Given the description of an element on the screen output the (x, y) to click on. 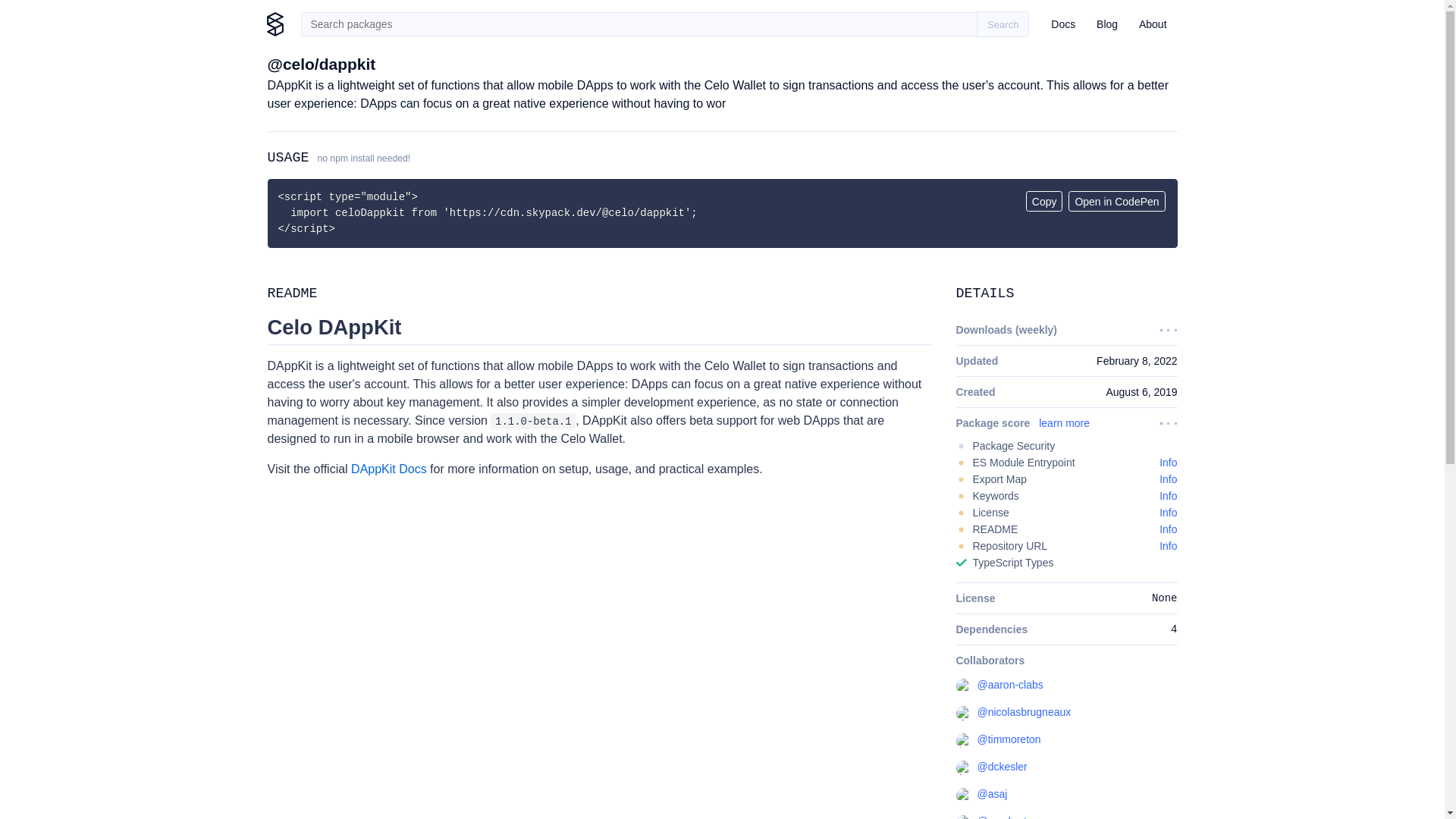
About (1152, 24)
Info (1167, 462)
Blog (1107, 24)
Info (1167, 479)
Docs (1063, 24)
Info (1167, 545)
Info (1167, 512)
Info (1167, 529)
learn more (1064, 422)
Copy (1044, 200)
Info (1167, 495)
Search (1001, 24)
Open in CodePen (1116, 200)
DAppKit Docs (388, 468)
